Given the description of an element on the screen output the (x, y) to click on. 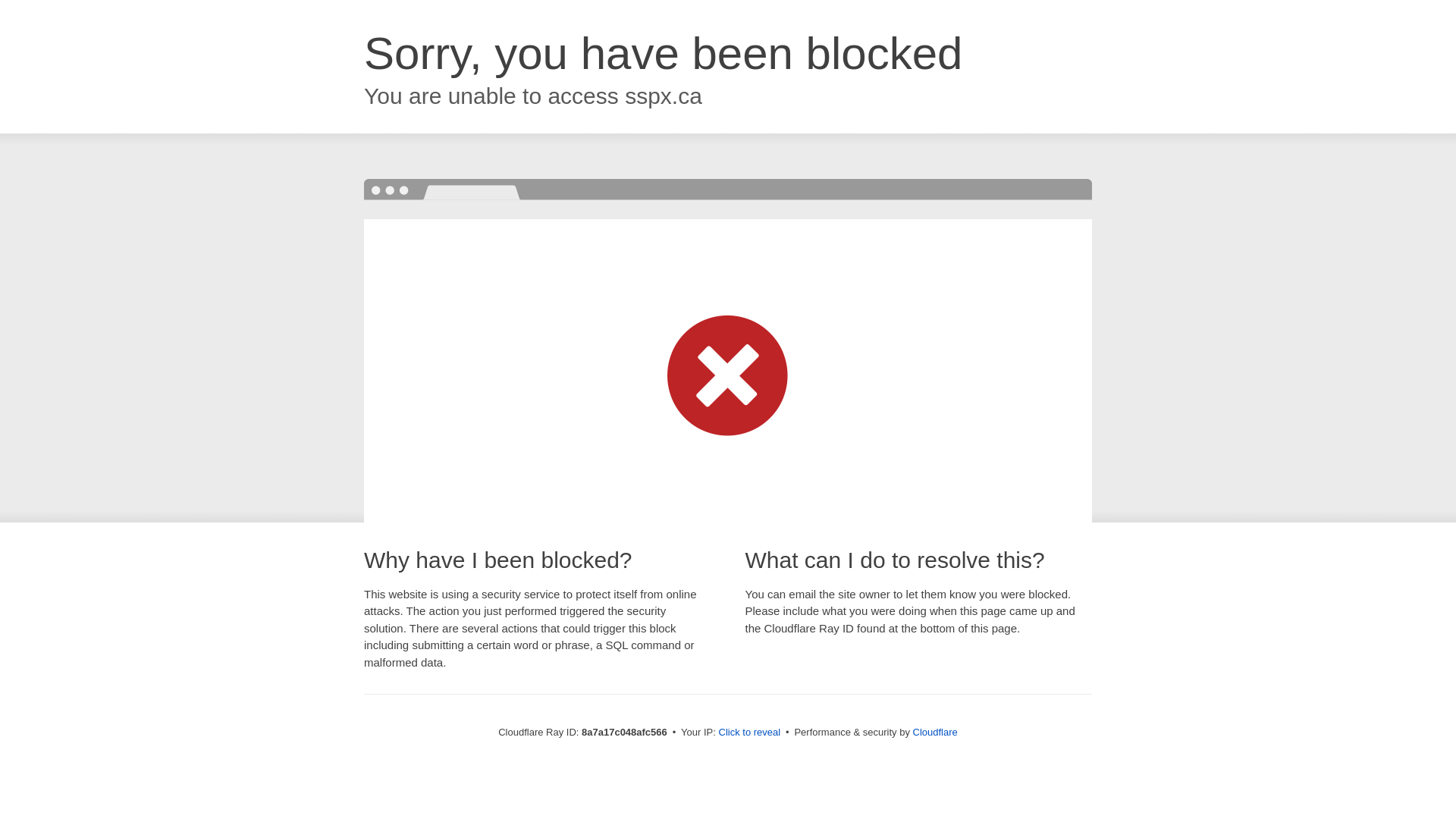
Cloudflare (935, 731)
Click to reveal (749, 732)
